Given the description of an element on the screen output the (x, y) to click on. 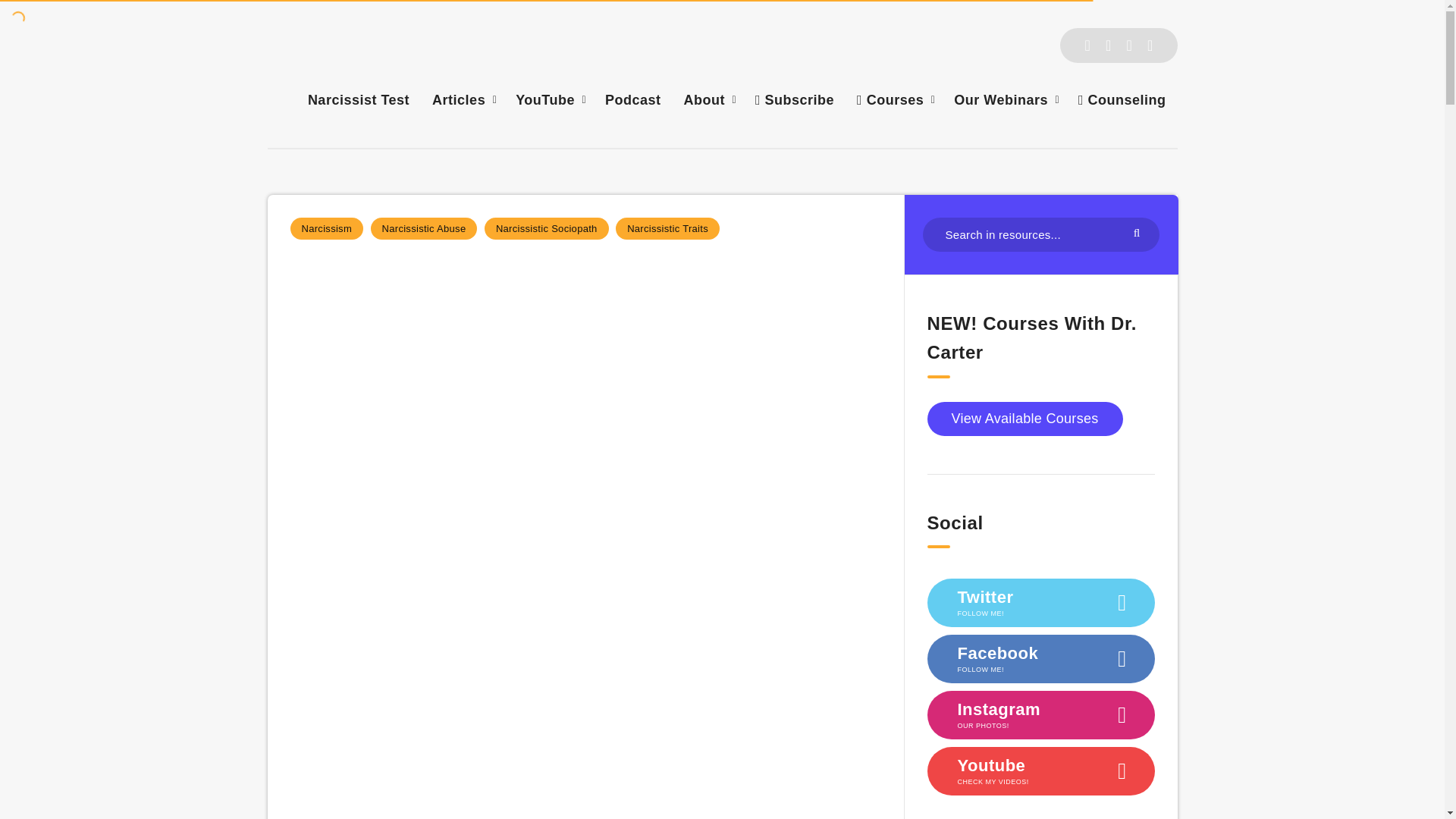
YouTube (545, 99)
Narcissistic Abuse (424, 228)
Subscribe (794, 99)
Counseling (1122, 99)
Narcissism (325, 228)
Our Webinars (1000, 99)
Podcast (633, 99)
Courses (890, 99)
Narcissist Test (358, 99)
About (704, 99)
